Given the description of an element on the screen output the (x, y) to click on. 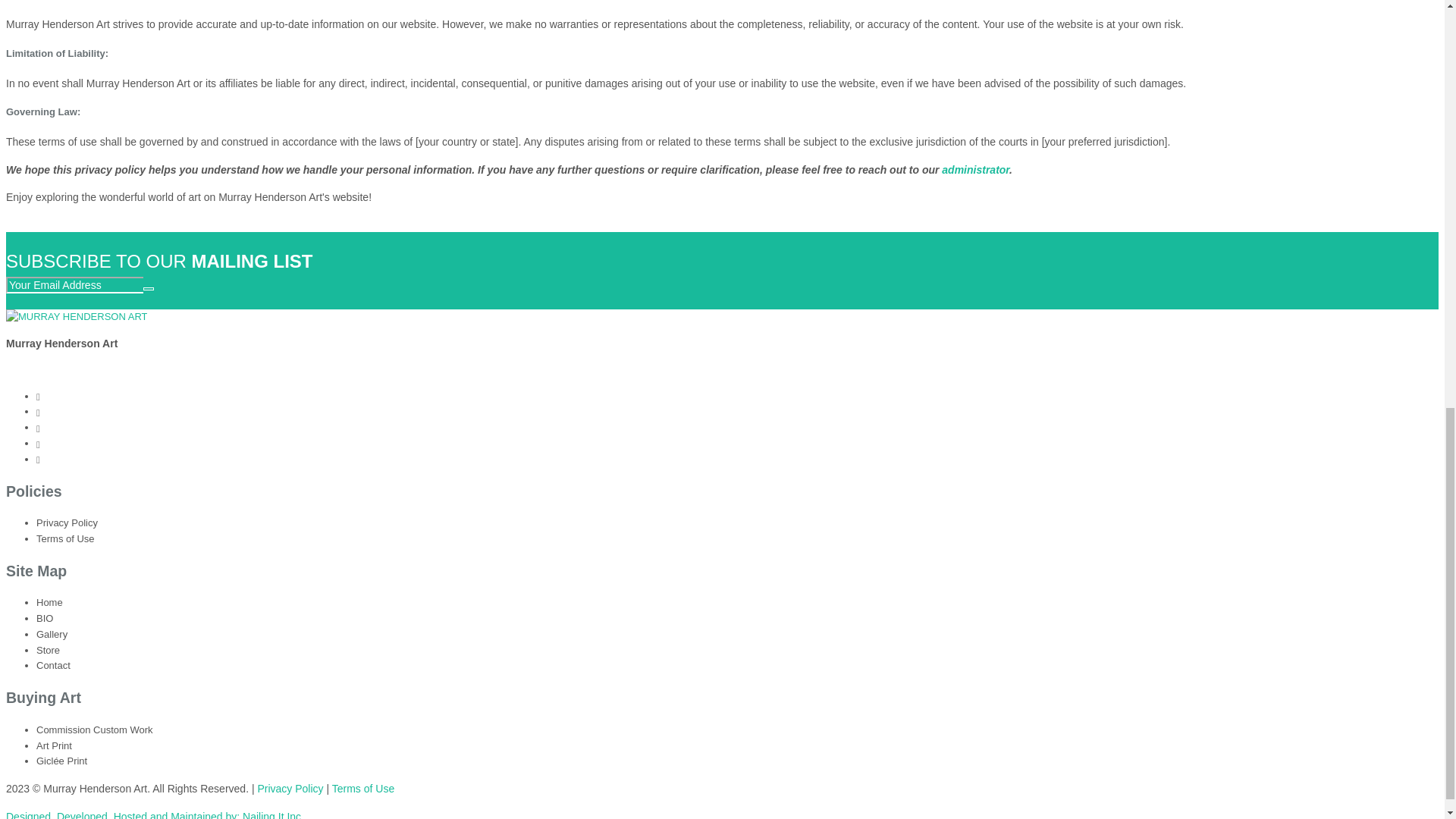
Terms of Use (362, 788)
Terms of Use (65, 538)
Home (49, 602)
Store (47, 650)
administrator (975, 169)
Privacy Policy (66, 522)
Privacy Policy (290, 788)
Art Print (53, 745)
BIO (44, 618)
Gallery (51, 633)
Commission Custom Work (94, 729)
Contact (52, 665)
